Given the description of an element on the screen output the (x, y) to click on. 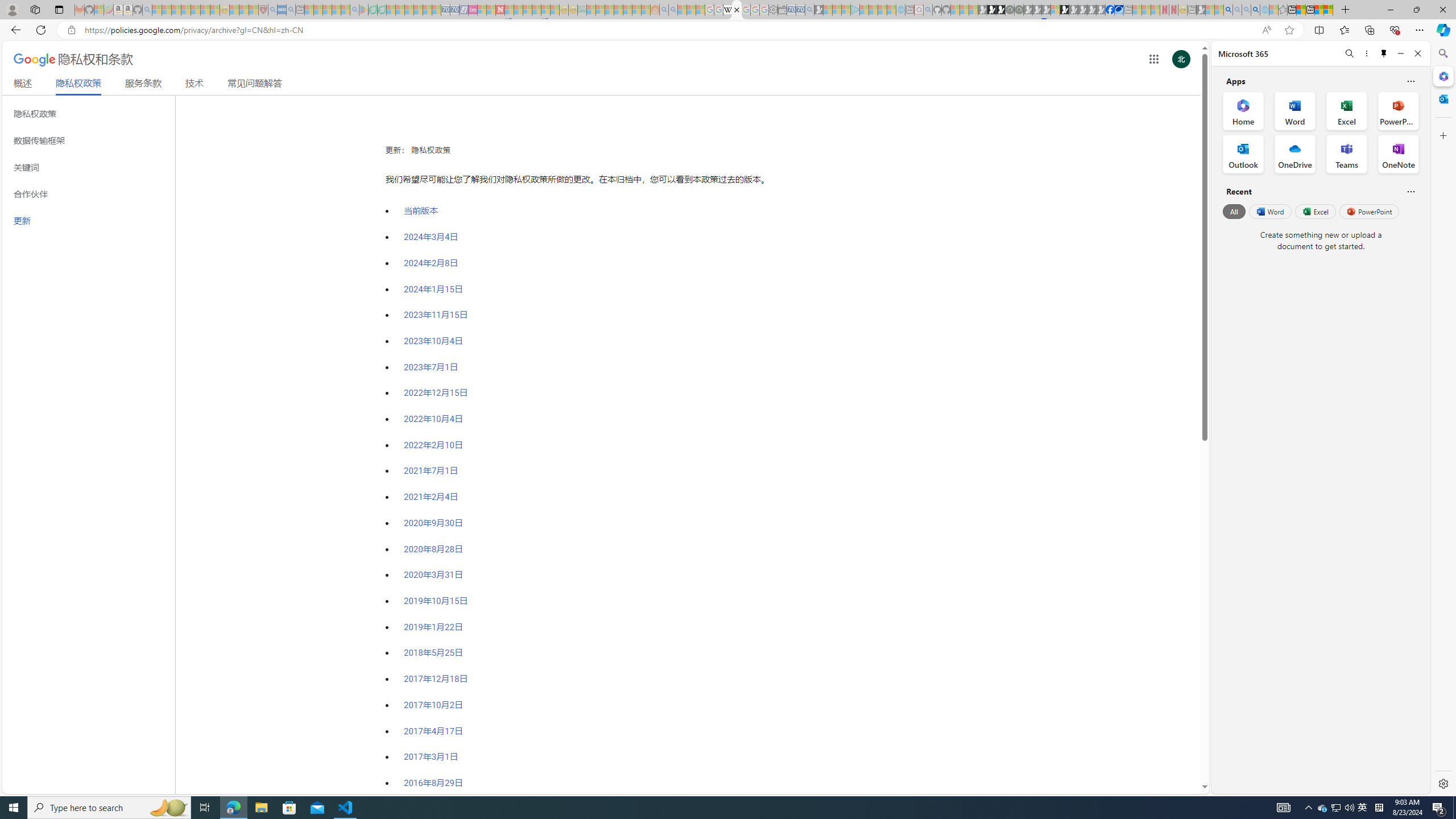
Future Focus Report 2024 - Sleeping (1018, 9)
Home | Sky Blue Bikes - Sky Blue Bikes - Sleeping (900, 9)
Play Zoo Boom in your browser | Games from Microsoft Start (991, 9)
Unpin side pane (1383, 53)
Expert Portfolios - Sleeping (617, 9)
